Given the description of an element on the screen output the (x, y) to click on. 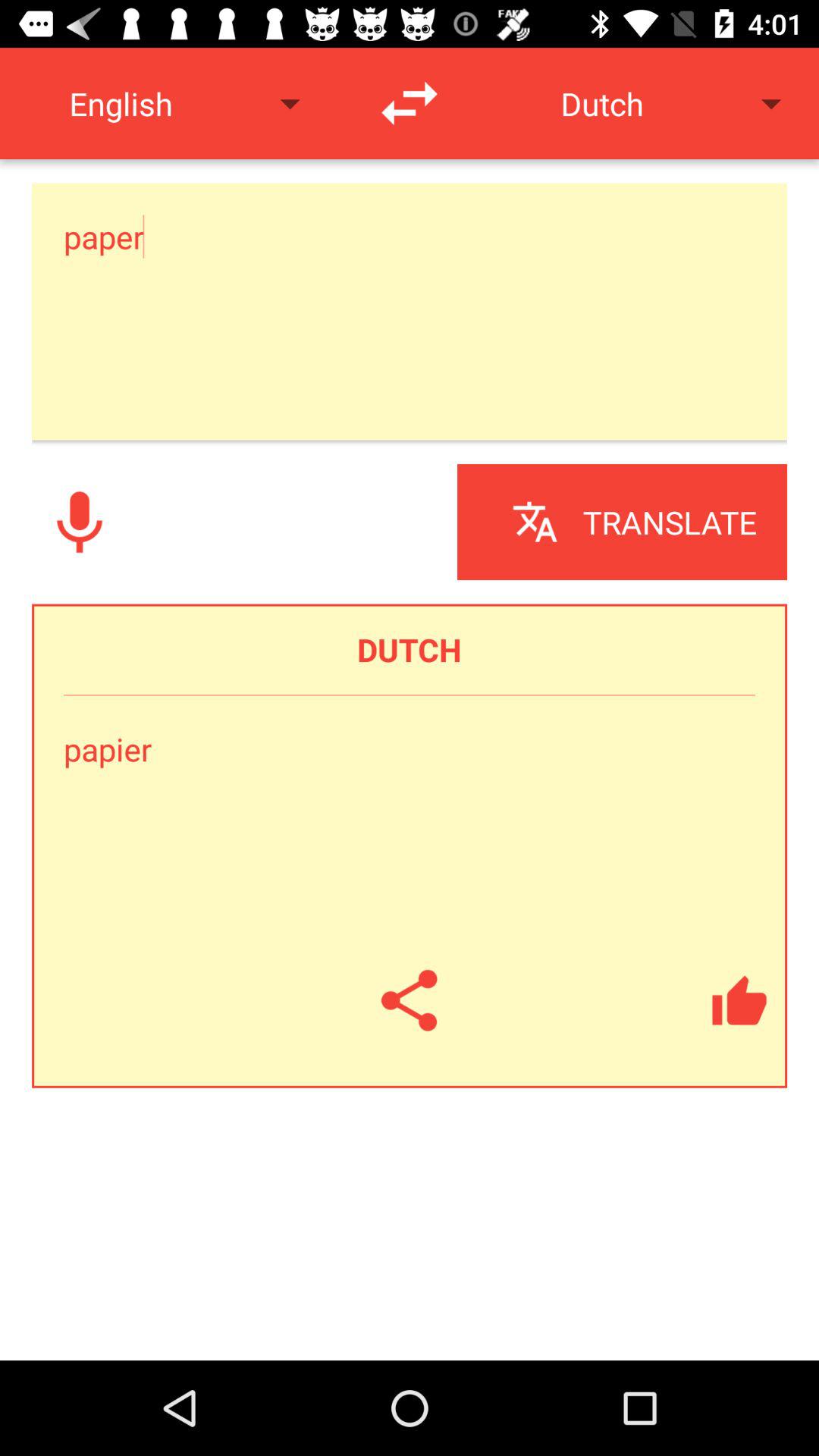
go to search (79, 521)
